Given the description of an element on the screen output the (x, y) to click on. 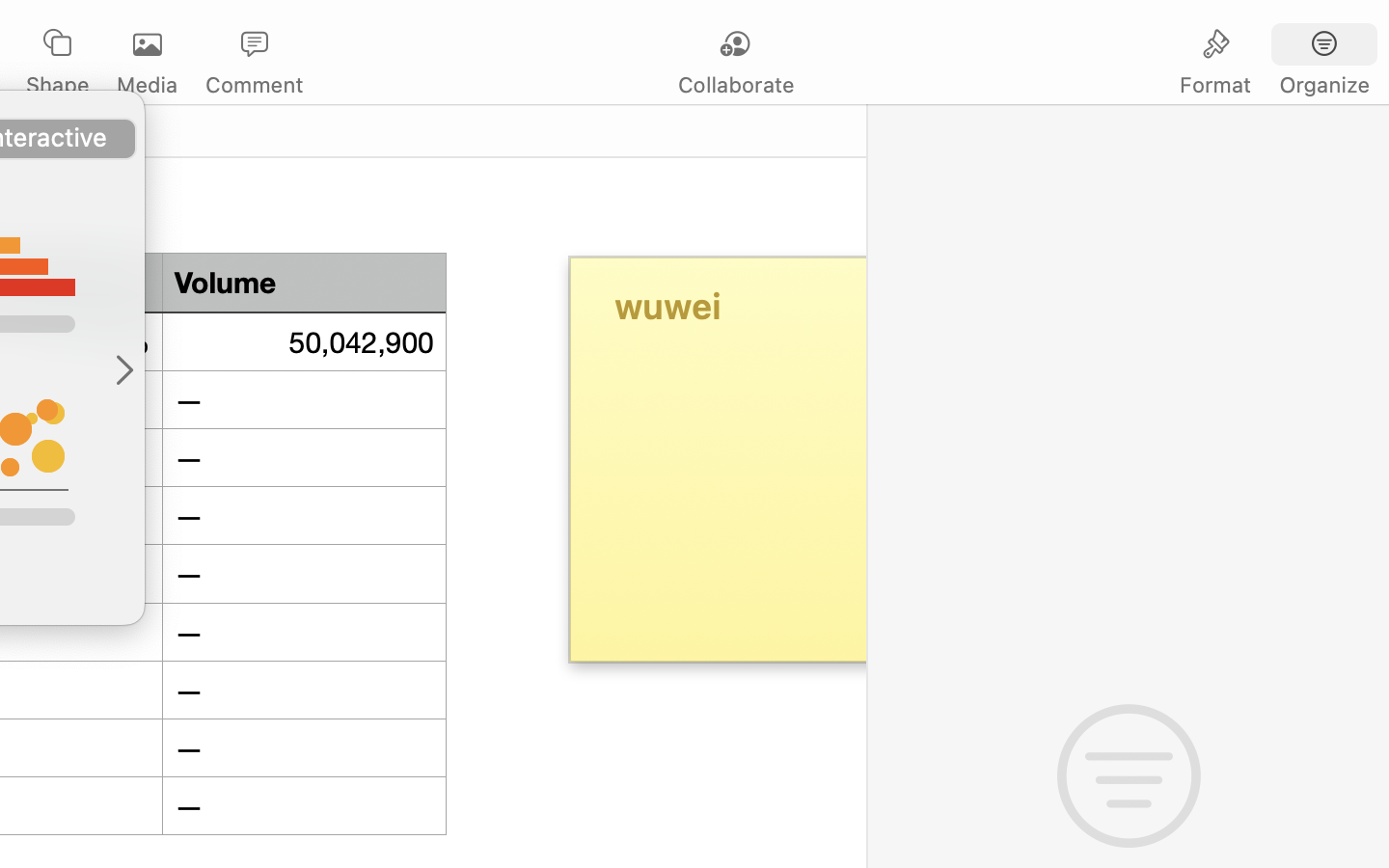
<AXUIElement 0x296280920> {pid=1420} Element type: AXGroup (1270, 45)
Organize Element type: AXStaticText (1323, 84)
Media Element type: AXStaticText (146, 84)
